Given the description of an element on the screen output the (x, y) to click on. 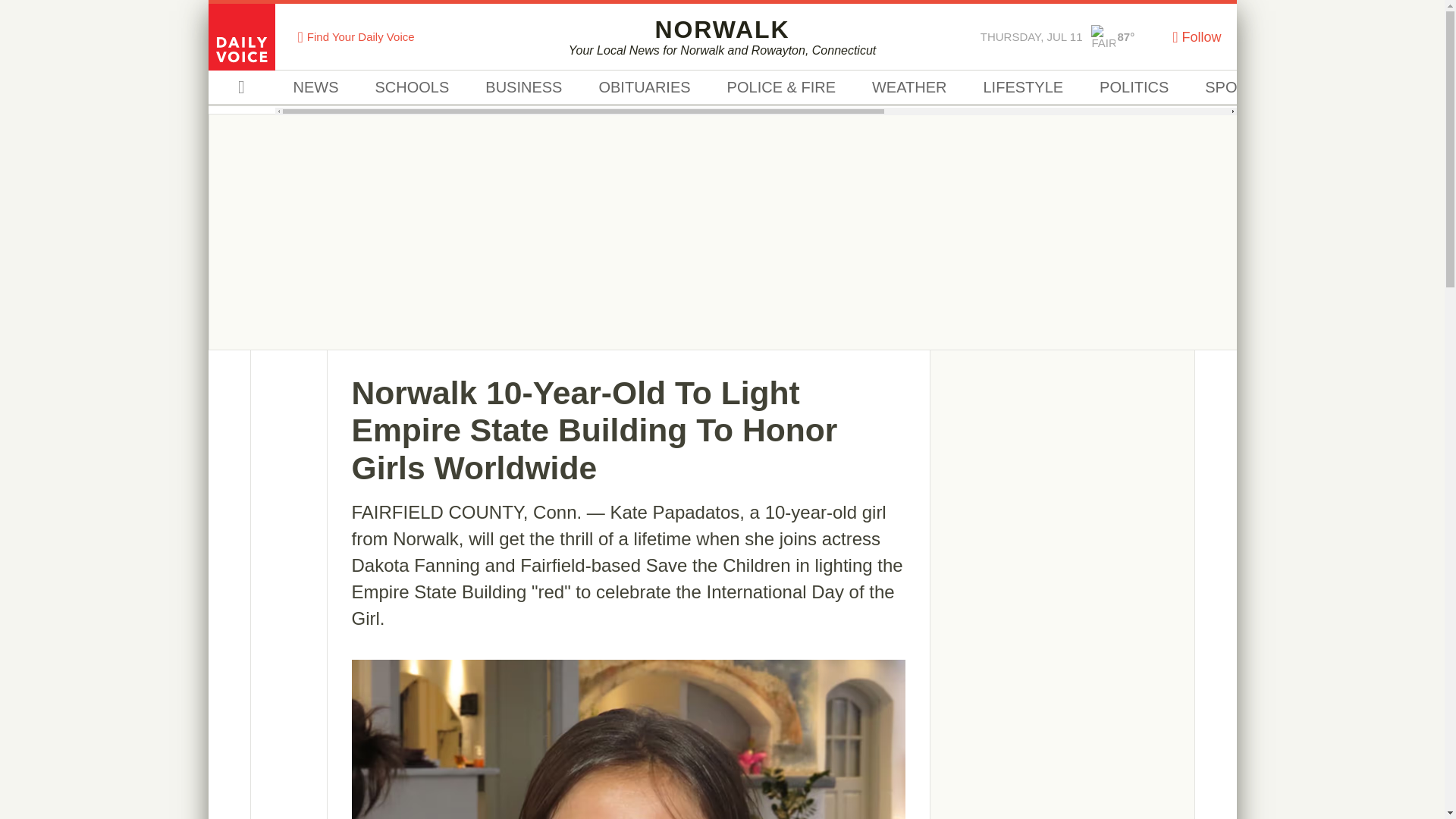
SPORTS (1235, 88)
BUSINESS (523, 88)
OBITUARIES (643, 88)
LIFESTYLE (1022, 88)
NEWS (315, 88)
Fair (1102, 36)
REAL ESTATE (1353, 88)
WEATHER (909, 88)
SCHOOLS (411, 88)
POLITICS (1133, 88)
